Given the description of an element on the screen output the (x, y) to click on. 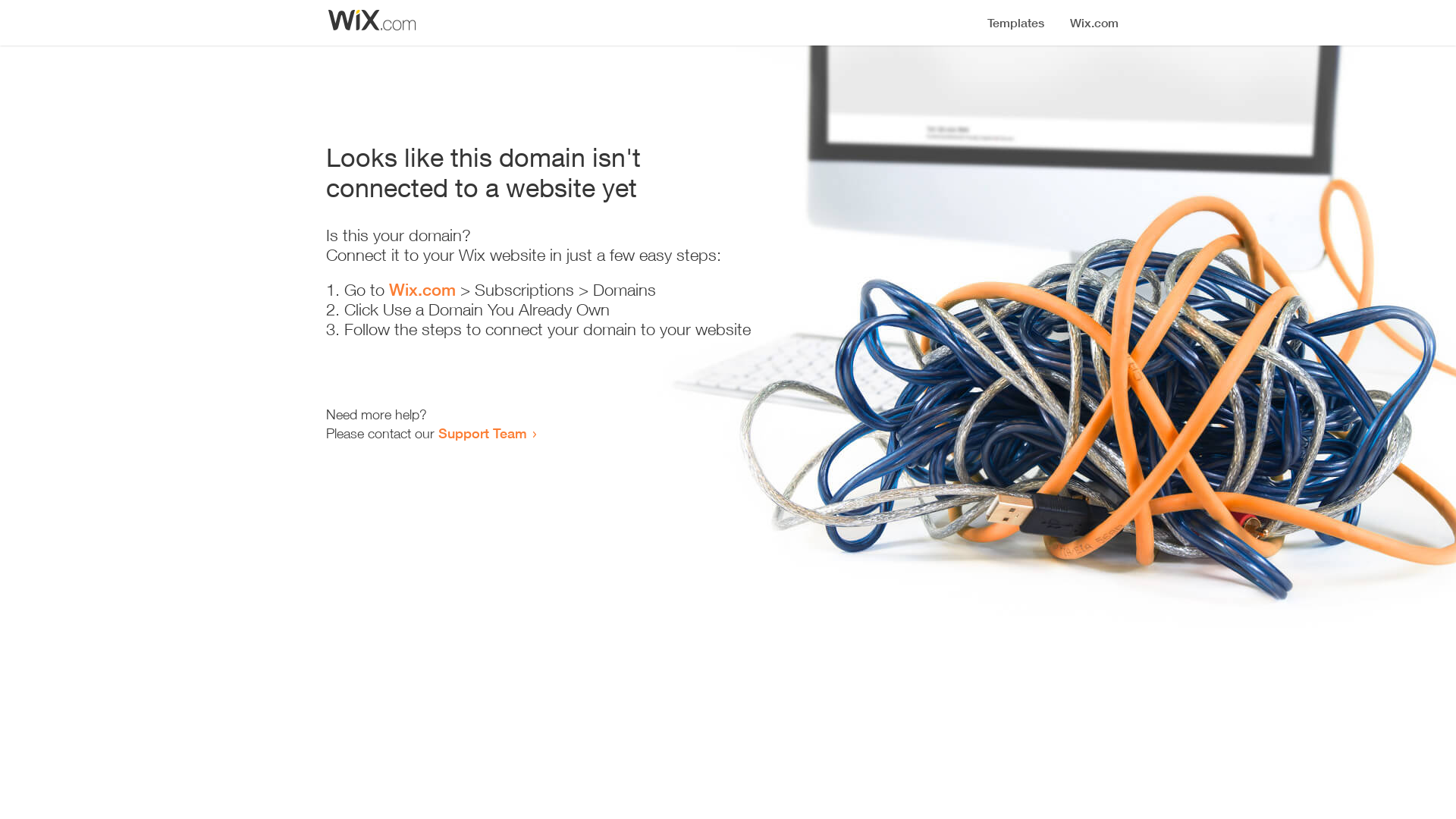
Wix.com Element type: text (422, 289)
Support Team Element type: text (482, 432)
